Given the description of an element on the screen output the (x, y) to click on. 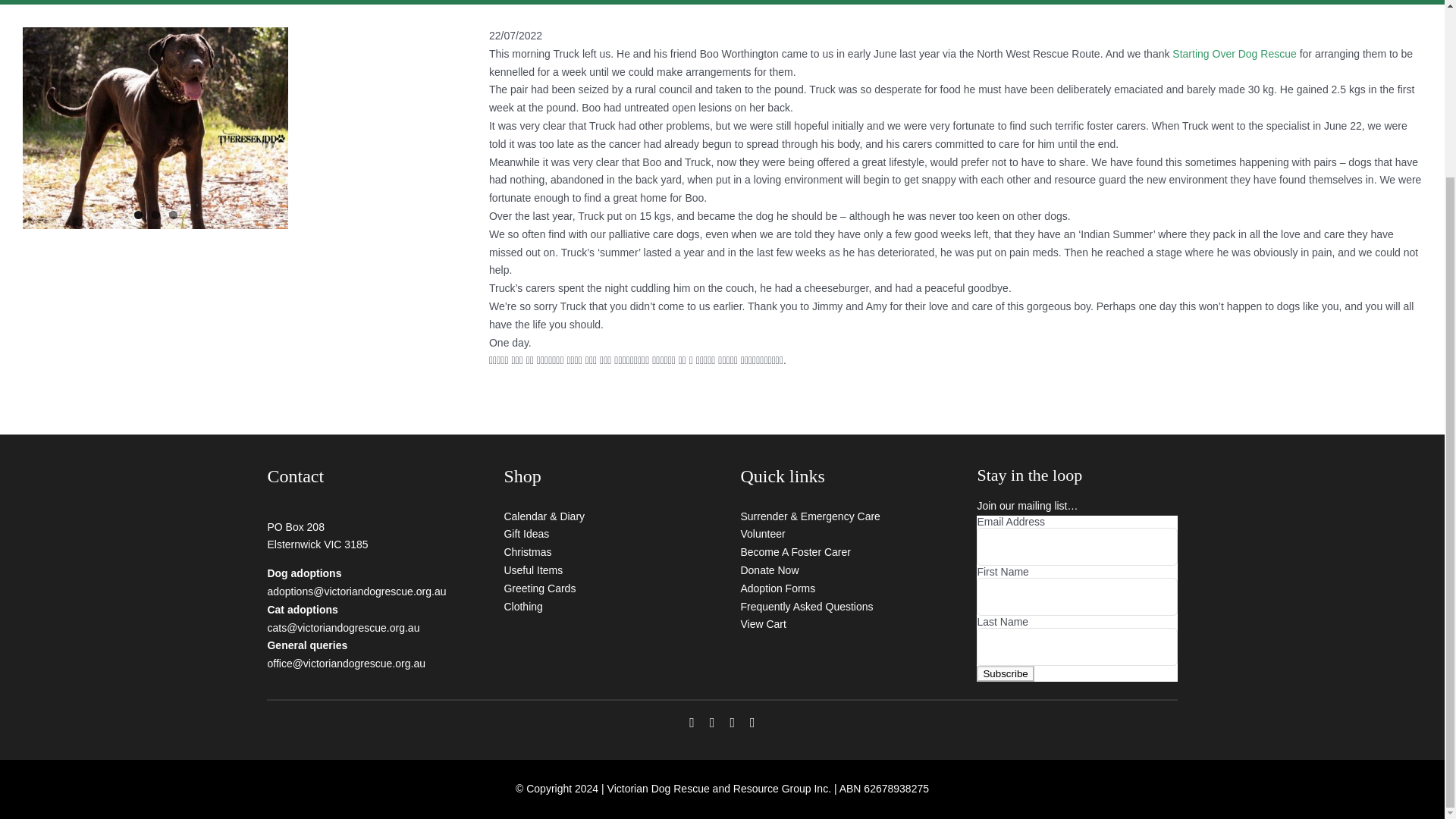
Subscribe (1004, 673)
